Given the description of an element on the screen output the (x, y) to click on. 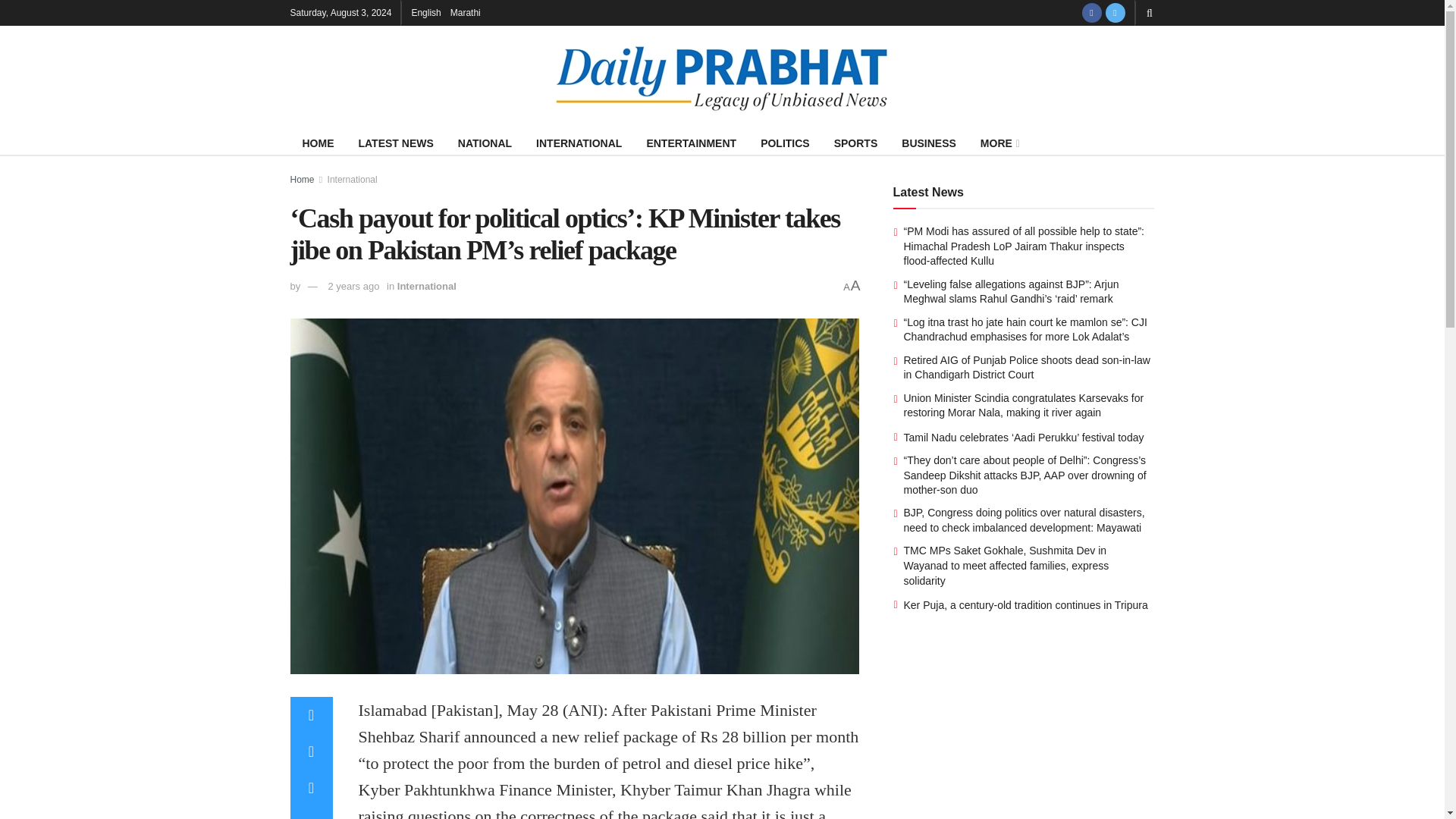
NATIONAL (484, 142)
POLITICS (785, 142)
International (352, 179)
2 years ago (352, 285)
Marathi (464, 12)
Advertisement (1023, 735)
SPORTS (855, 142)
Home (301, 179)
ENTERTAINMENT (690, 142)
English (425, 12)
BUSINESS (928, 142)
HOME (317, 142)
INTERNATIONAL (578, 142)
LATEST NEWS (395, 142)
MORE (998, 142)
